Given the description of an element on the screen output the (x, y) to click on. 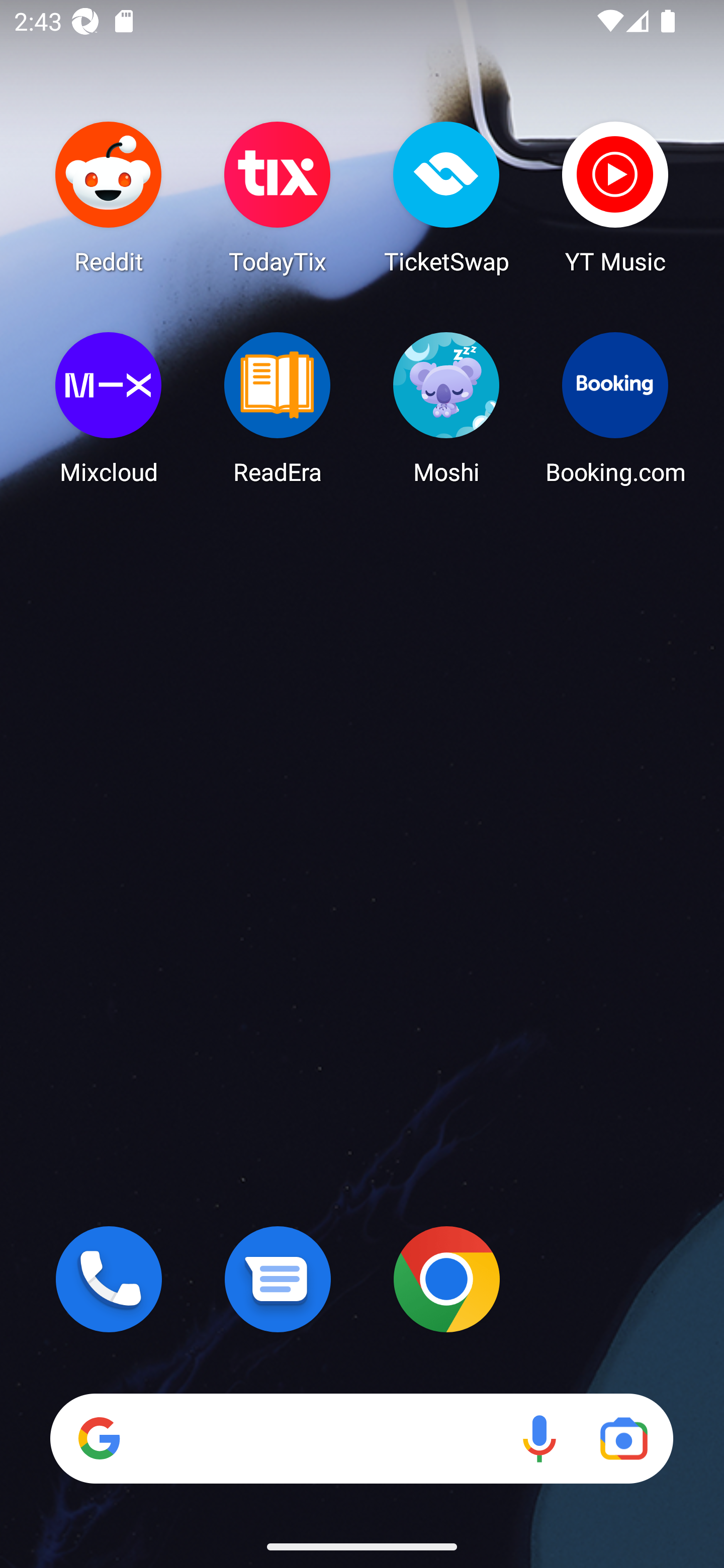
Reddit (108, 196)
TodayTix (277, 196)
TicketSwap (445, 196)
YT Music (615, 196)
Mixcloud (108, 407)
ReadEra (277, 407)
Moshi (445, 407)
Booking.com (615, 407)
Phone (108, 1279)
Messages (277, 1279)
Chrome (446, 1279)
Search Voice search Google Lens (361, 1438)
Voice search (539, 1438)
Google Lens (623, 1438)
